Given the description of an element on the screen output the (x, y) to click on. 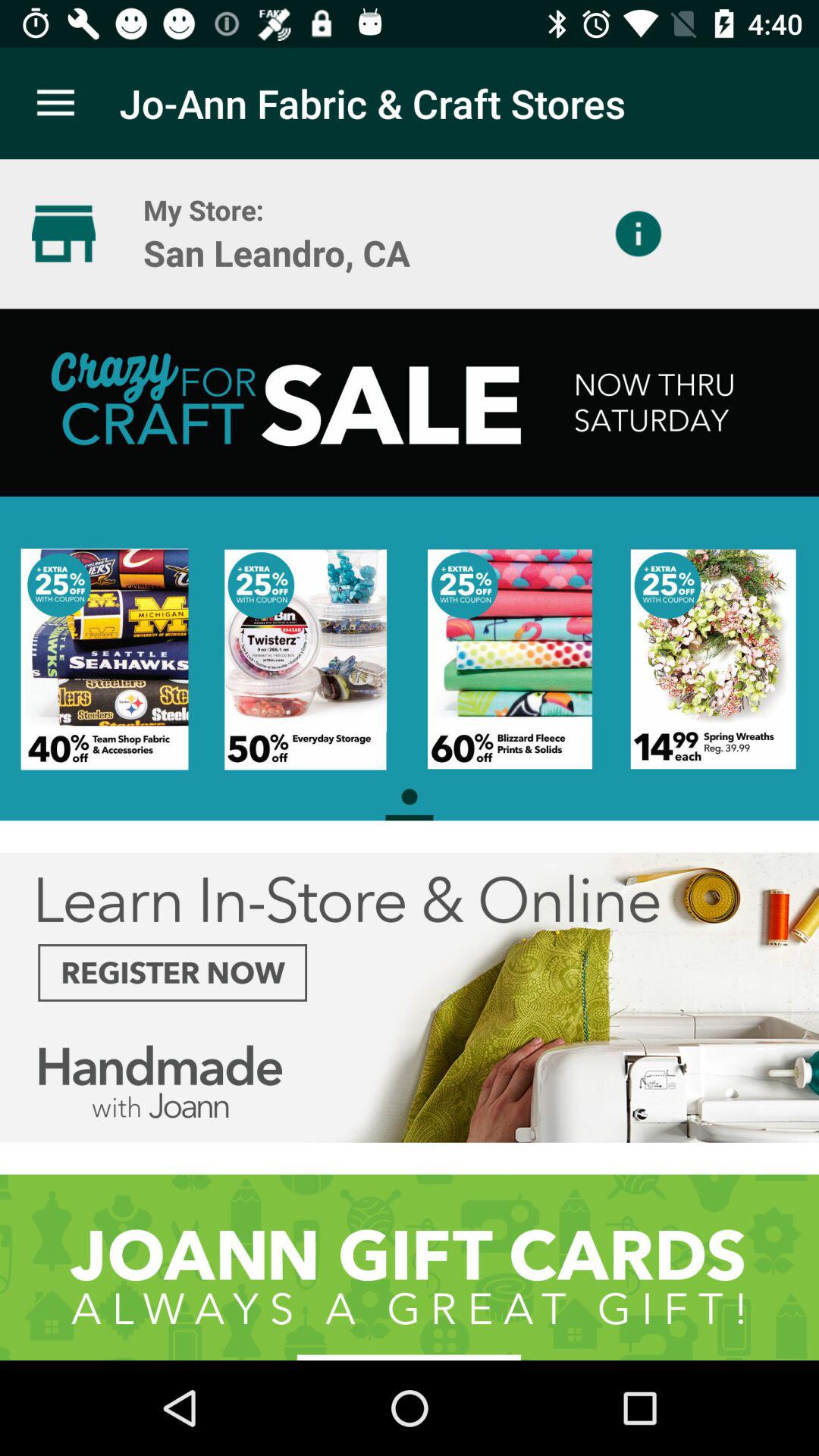
choose item below jo ann fabric item (638, 233)
